Given the description of an element on the screen output the (x, y) to click on. 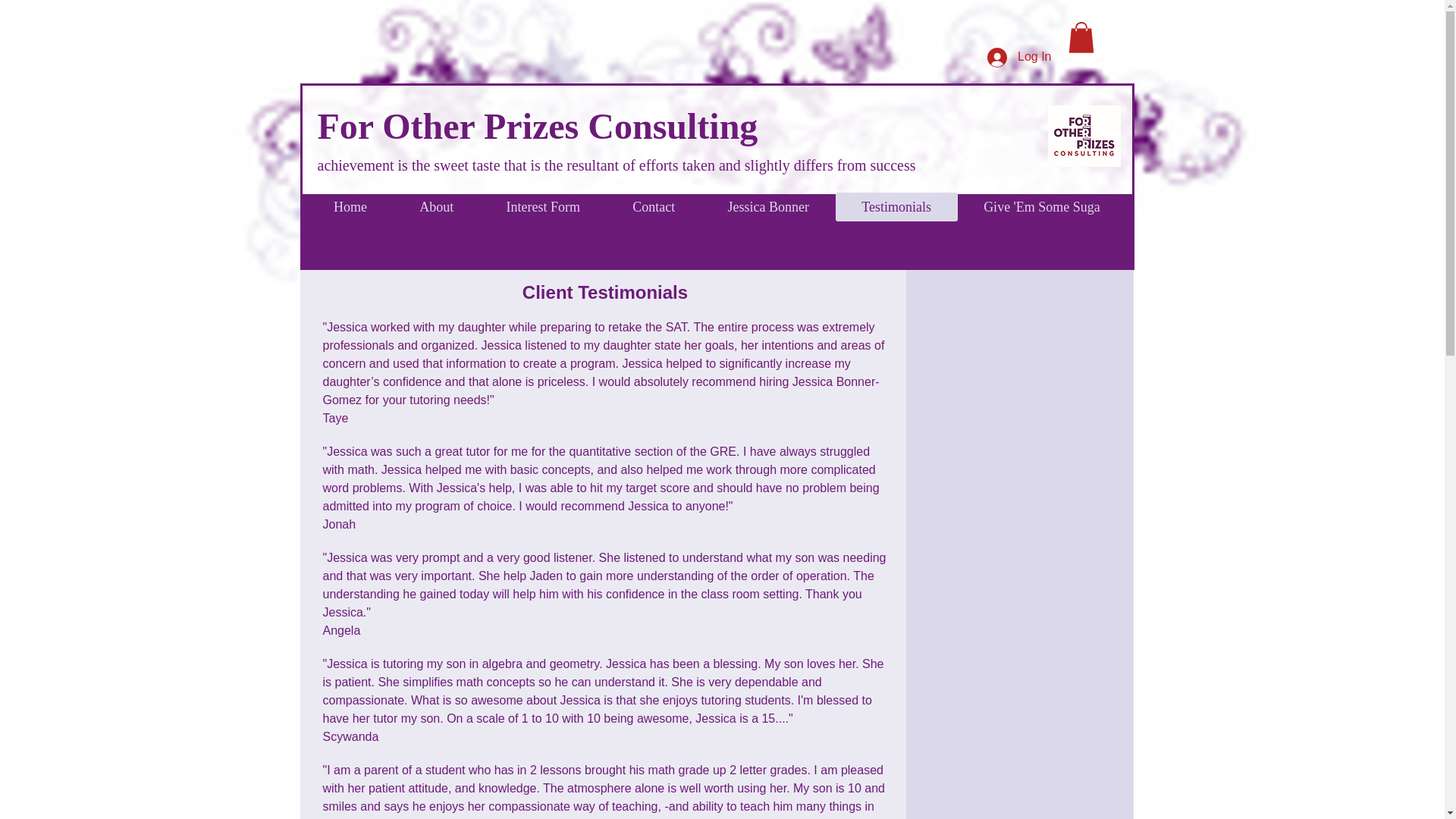
Give 'Em Some Suga (1042, 206)
Jessica Bonner (768, 206)
Log In (1018, 57)
Interest Form (543, 206)
About (436, 206)
Home (350, 206)
Testimonials (896, 206)
Contact (654, 206)
